Given the description of an element on the screen output the (x, y) to click on. 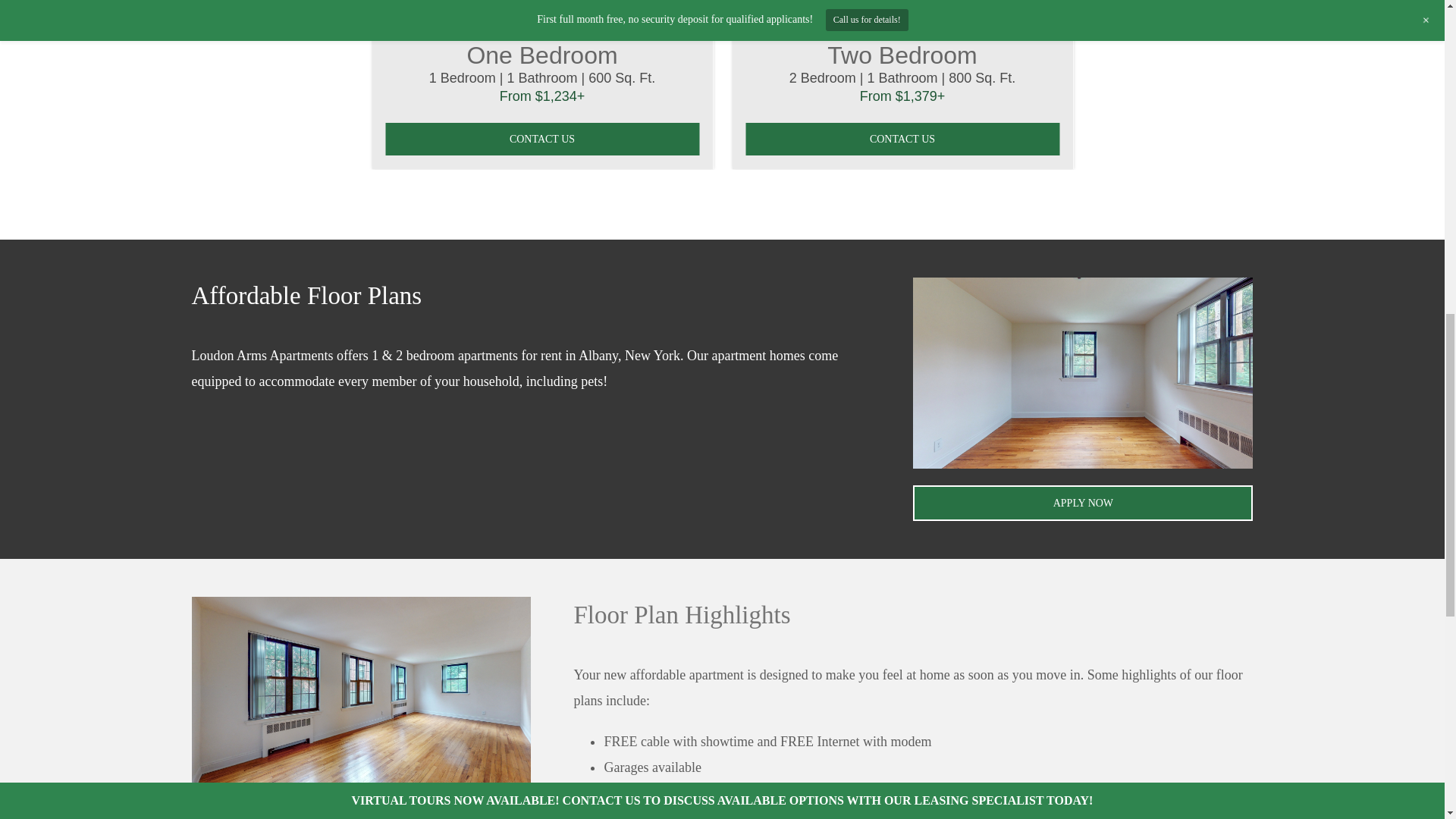
CONTACT US (902, 138)
APPLY NOW (1082, 502)
CONTACT US (541, 138)
